Given the description of an element on the screen output the (x, y) to click on. 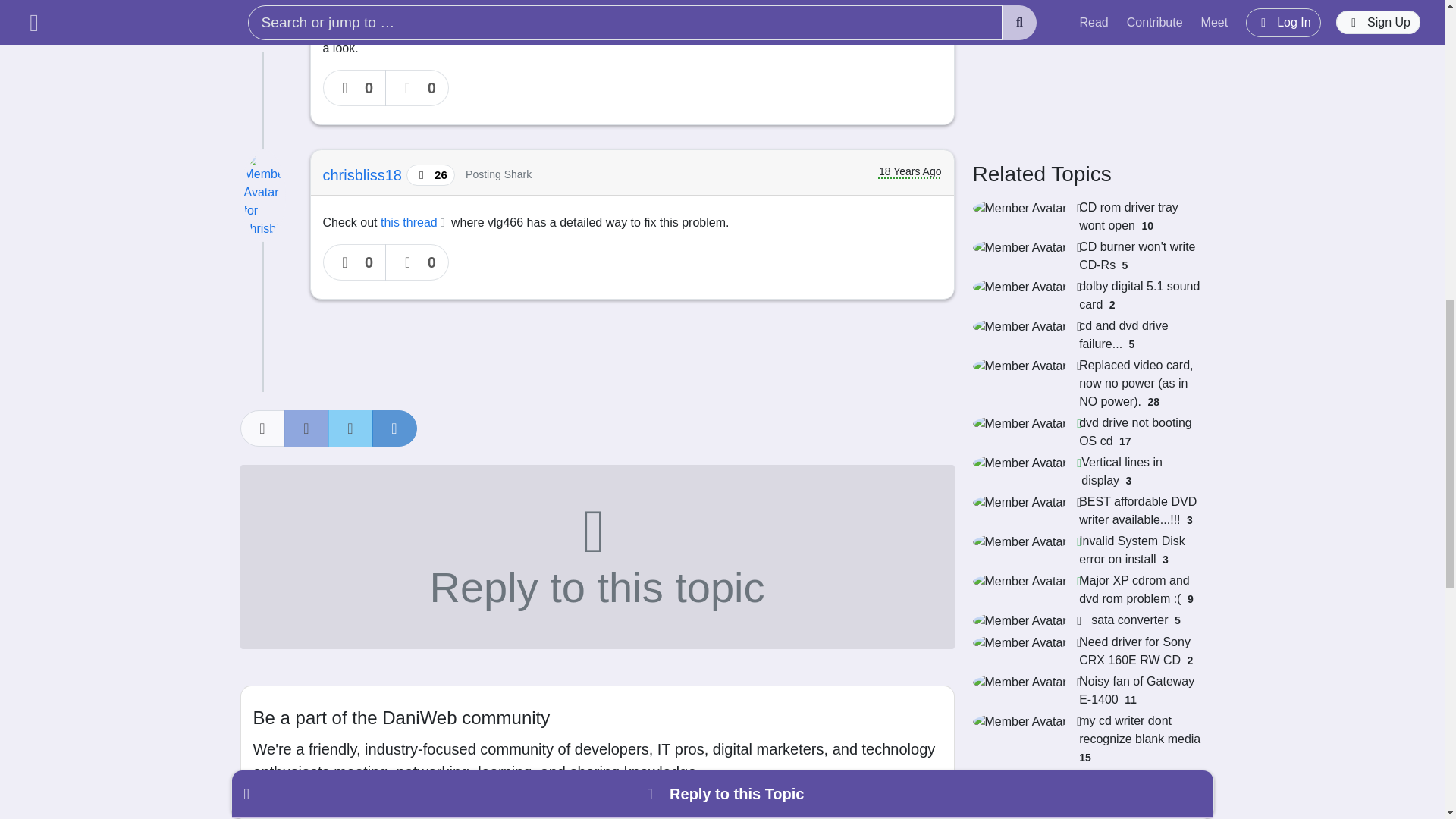
0 (416, 262)
dolby digital 5.1 sound card 2 (1088, 295)
Reply to this topic (596, 557)
chrisbliss18 (364, 175)
LinkedIn (393, 428)
Facebook (306, 428)
CD rom driver tray wont open 10 (1088, 217)
this thread (414, 222)
0 (355, 262)
CD burner won't write CD-Rs 5 (1088, 256)
